Given the description of an element on the screen output the (x, y) to click on. 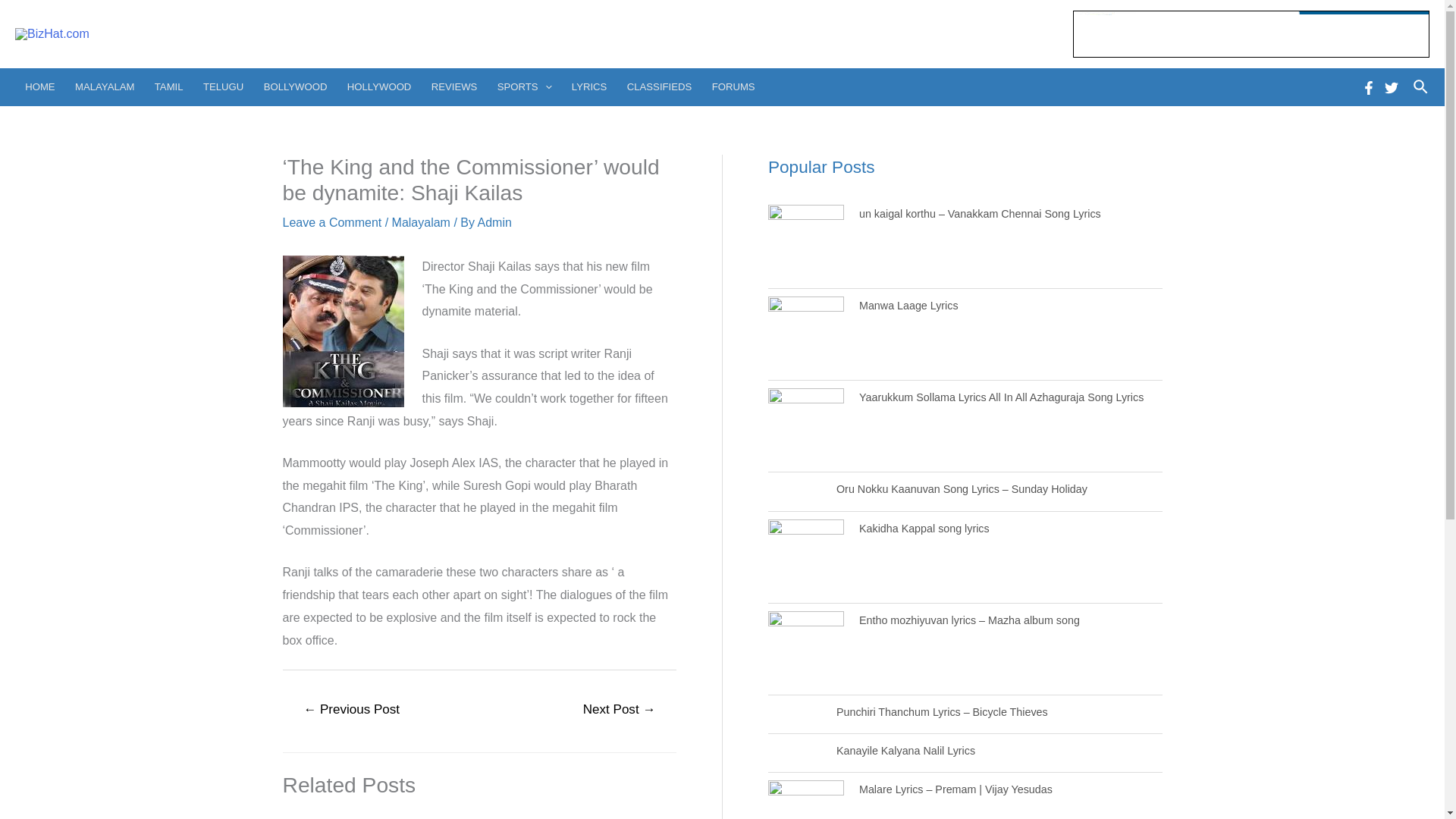
BOLLYWOOD (294, 86)
MALAYALAM (104, 86)
View all posts by Admin (494, 222)
REVIEWS (454, 86)
CLASSIFIEDS (659, 86)
FORUMS (732, 86)
HOME (39, 86)
SPORTS (524, 86)
TAMIL (168, 86)
HOLLYWOOD (379, 86)
LYRICS (589, 86)
TELUGU (223, 86)
